Given the description of an element on the screen output the (x, y) to click on. 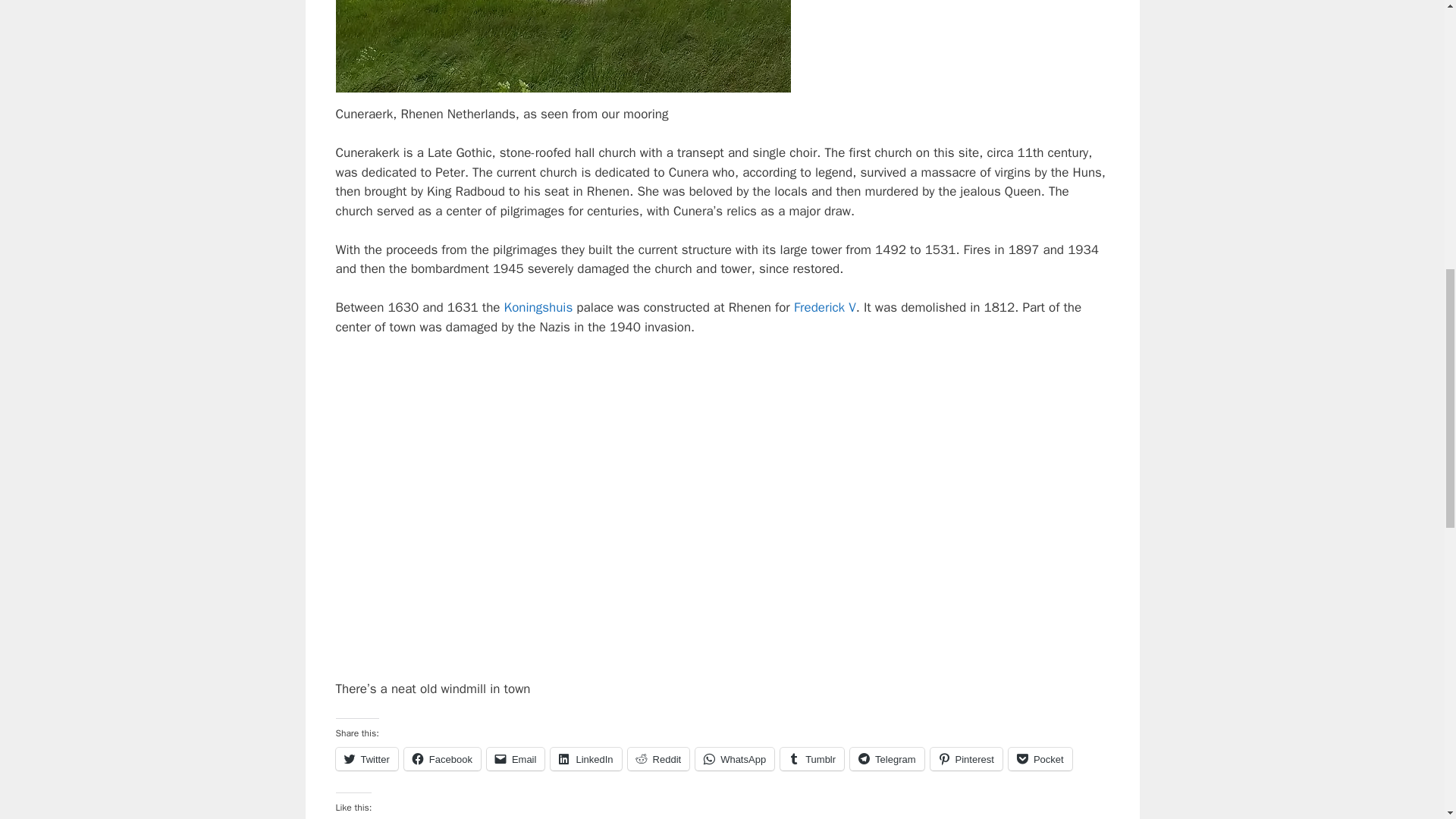
Click to share on Reddit (658, 758)
Click to share on WhatsApp (734, 758)
Click to share on Facebook (442, 758)
Click to share on LinkedIn (585, 758)
Click to share on Telegram (886, 758)
Click to share on Twitter (365, 758)
Click to email a link to a friend (515, 758)
Click to share on Pinterest (966, 758)
Click to share on Pocket (1040, 758)
Click to share on Tumblr (812, 758)
